Given the description of an element on the screen output the (x, y) to click on. 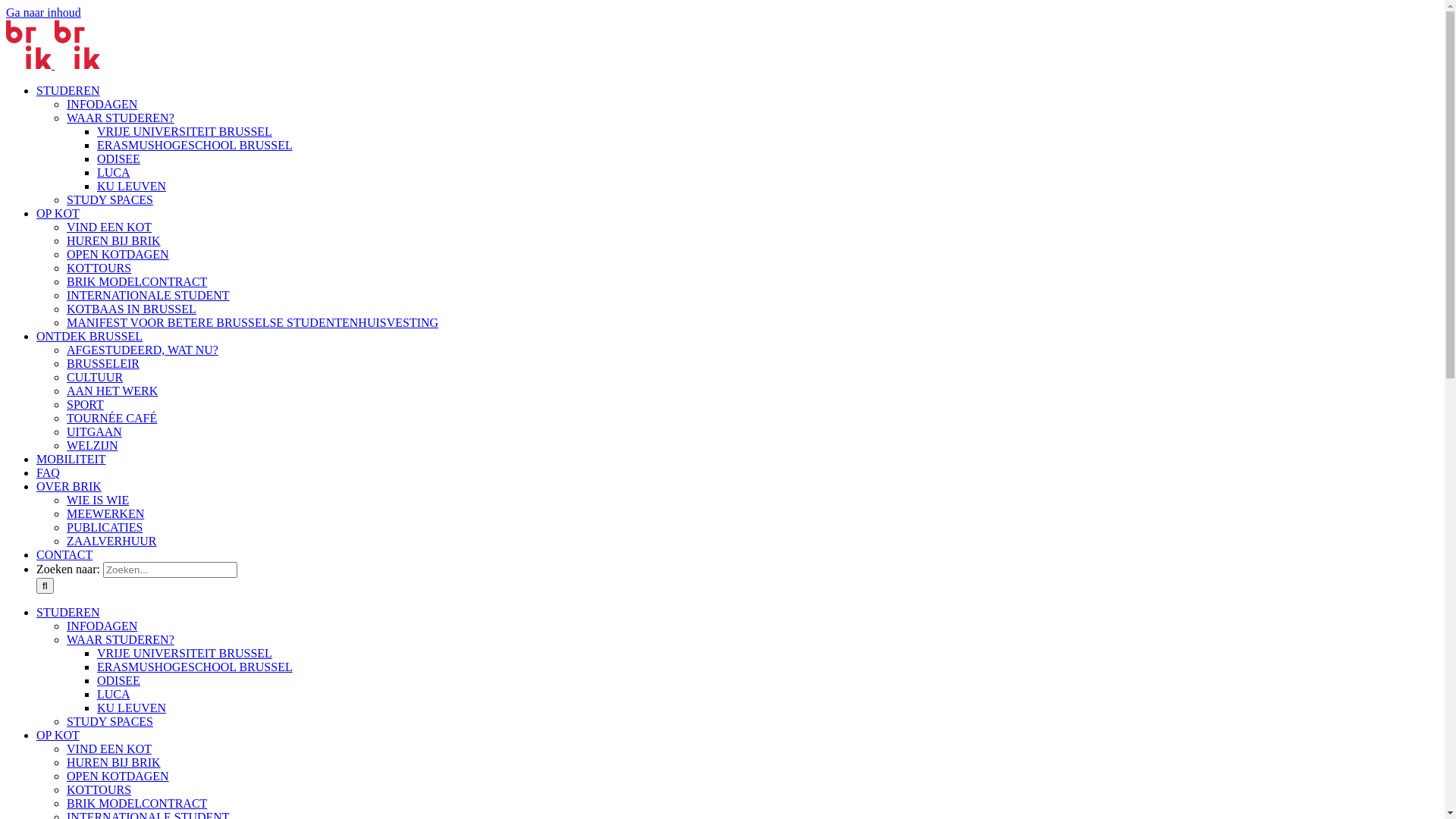
BRUSSELEIR Element type: text (102, 363)
MEEWERKEN Element type: text (105, 513)
CONTACT Element type: text (64, 554)
VIND EEN KOT Element type: text (108, 226)
WIE IS WIE Element type: text (97, 499)
HUREN BIJ BRIK Element type: text (113, 240)
ONTDEK BRUSSEL Element type: text (89, 335)
KOTBAAS IN BRUSSEL Element type: text (131, 308)
WAAR STUDEREN? Element type: text (120, 639)
BRIK MODELCONTRACT Element type: text (136, 803)
OPEN KOTDAGEN Element type: text (117, 775)
OPEN KOTDAGEN Element type: text (117, 253)
OP KOT Element type: text (57, 213)
KU LEUVEN Element type: text (131, 185)
Ga naar inhoud Element type: text (43, 12)
LUCA Element type: text (113, 172)
STUDEREN Element type: text (68, 90)
BRIK MODELCONTRACT Element type: text (136, 281)
ZAALVERHUUR Element type: text (111, 540)
FAQ Element type: text (47, 472)
WELZIJN Element type: text (92, 445)
KOTTOURS Element type: text (98, 267)
MOBILITEIT Element type: text (71, 458)
ERASMUSHOGESCHOOL BRUSSEL Element type: text (194, 666)
OP KOT Element type: text (57, 734)
STUDY SPACES Element type: text (109, 721)
SPORT Element type: text (84, 404)
VRIJE UNIVERSITEIT BRUSSEL Element type: text (184, 131)
MANIFEST VOOR BETERE BRUSSELSE STUDENTENHUISVESTING Element type: text (252, 322)
INFODAGEN Element type: text (101, 625)
ODISEE Element type: text (118, 680)
LUCA Element type: text (113, 693)
VRIJE UNIVERSITEIT BRUSSEL Element type: text (184, 652)
VIND EEN KOT Element type: text (108, 748)
PUBLICATIES Element type: text (104, 526)
KU LEUVEN Element type: text (131, 707)
KOTTOURS Element type: text (98, 789)
STUDY SPACES Element type: text (109, 199)
UITGAAN Element type: text (94, 431)
HUREN BIJ BRIK Element type: text (113, 762)
INFODAGEN Element type: text (101, 103)
WAAR STUDEREN? Element type: text (120, 117)
INTERNATIONALE STUDENT Element type: text (147, 294)
AFGESTUDEERD, WAT NU? Element type: text (142, 349)
AAN HET WERK Element type: text (111, 390)
OVER BRIK Element type: text (68, 486)
STUDEREN Element type: text (68, 611)
CULTUUR Element type: text (94, 376)
ODISEE Element type: text (118, 158)
ERASMUSHOGESCHOOL BRUSSEL Element type: text (194, 144)
